Given the description of an element on the screen output the (x, y) to click on. 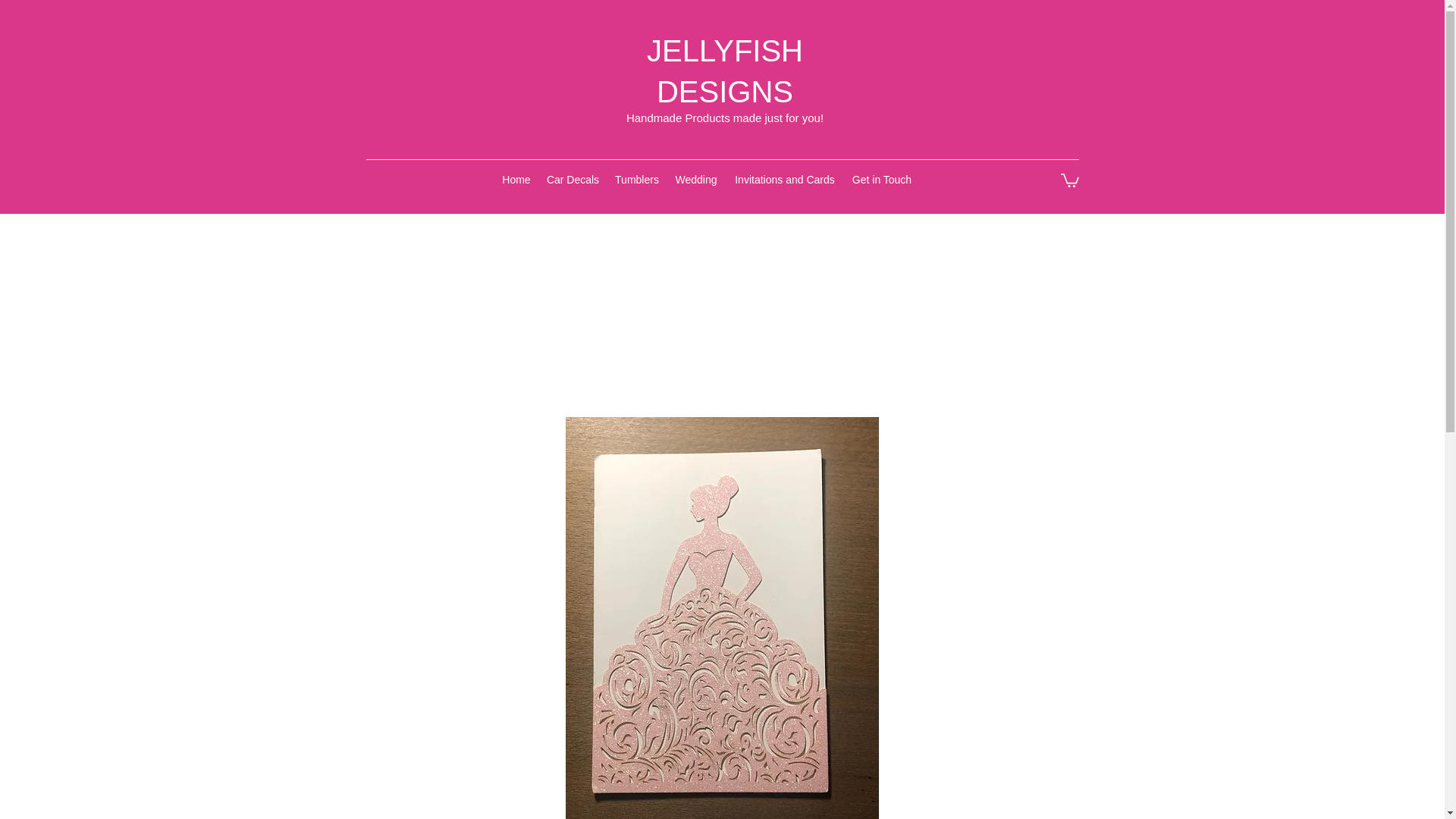
Invitations and Cards (784, 179)
Home (516, 179)
JELLYFISH DESIGNS (724, 71)
Tumblers (636, 179)
Wedding (695, 179)
Get in Touch (882, 179)
Car Decals (572, 179)
